Given the description of an element on the screen output the (x, y) to click on. 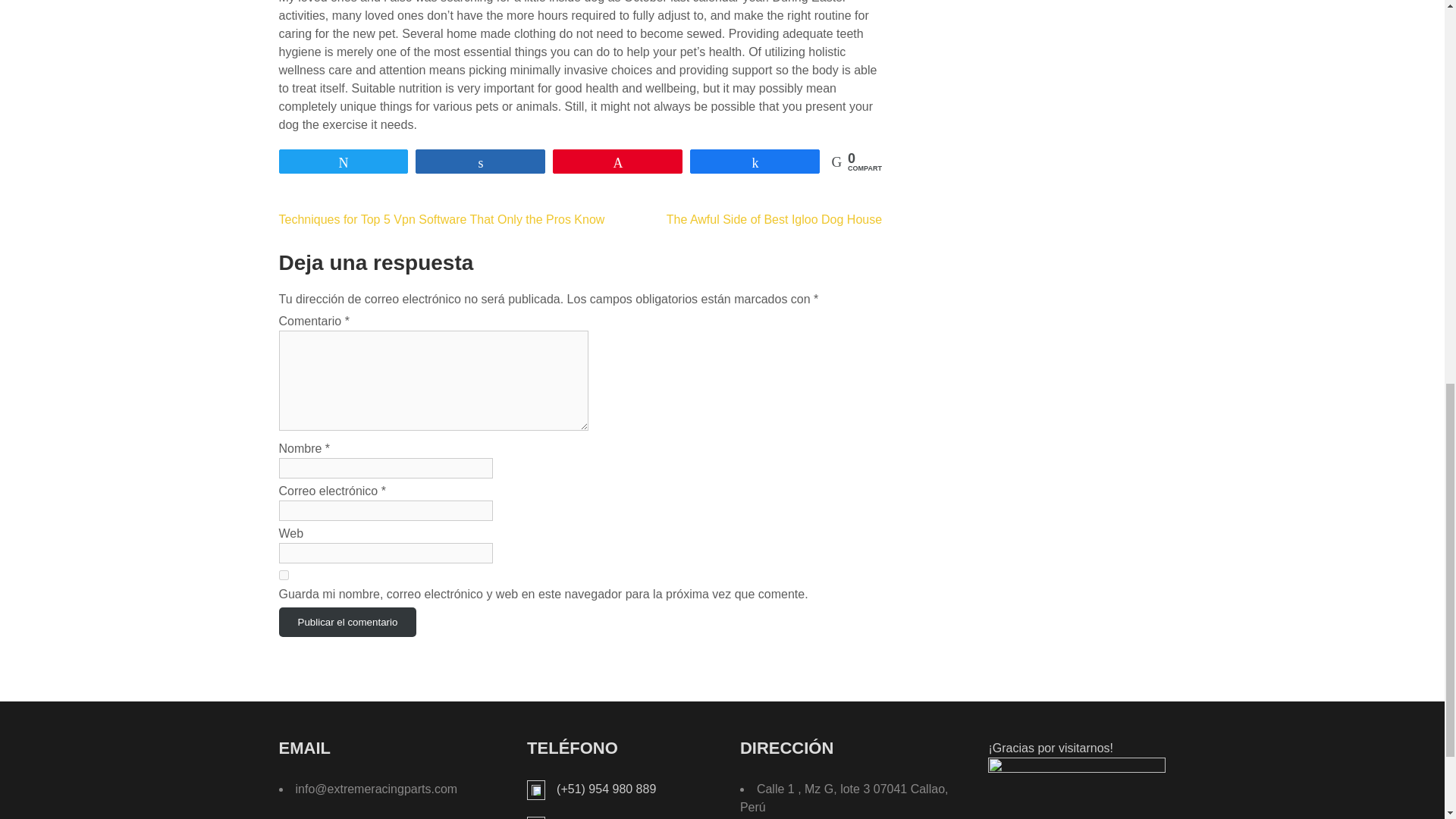
Publicar el comentario (347, 622)
Publicar el comentario (347, 622)
The Awful Side of Best Igloo Dog House (774, 219)
yes (283, 574)
Techniques for Top 5 Vpn Software That Only the Pros Know (442, 219)
